Given the description of an element on the screen output the (x, y) to click on. 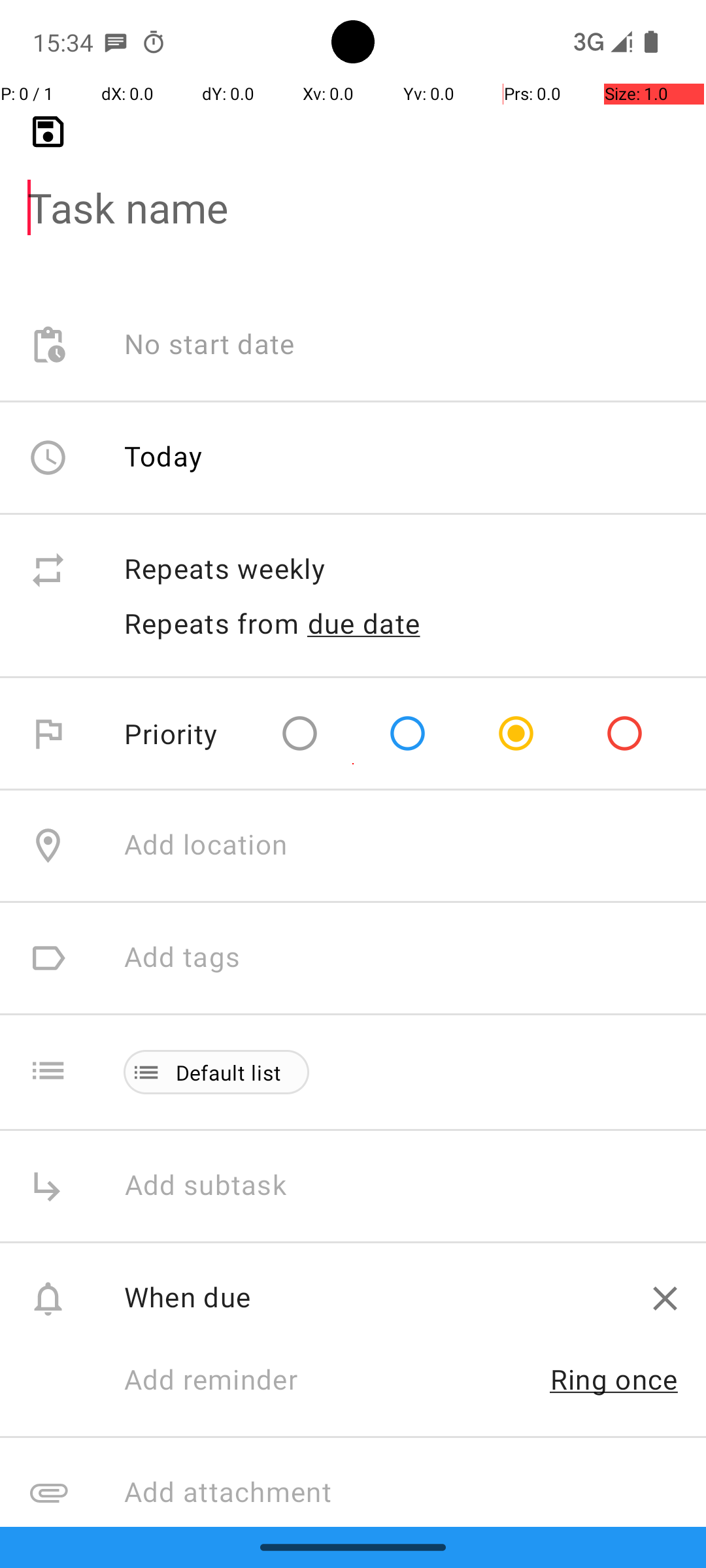
Repeats weekly Element type: android.widget.TextView (400, 569)
Ring once Element type: android.widget.TextView (613, 1379)
When due Element type: android.widget.TextView (373, 1296)
